Given the description of an element on the screen output the (x, y) to click on. 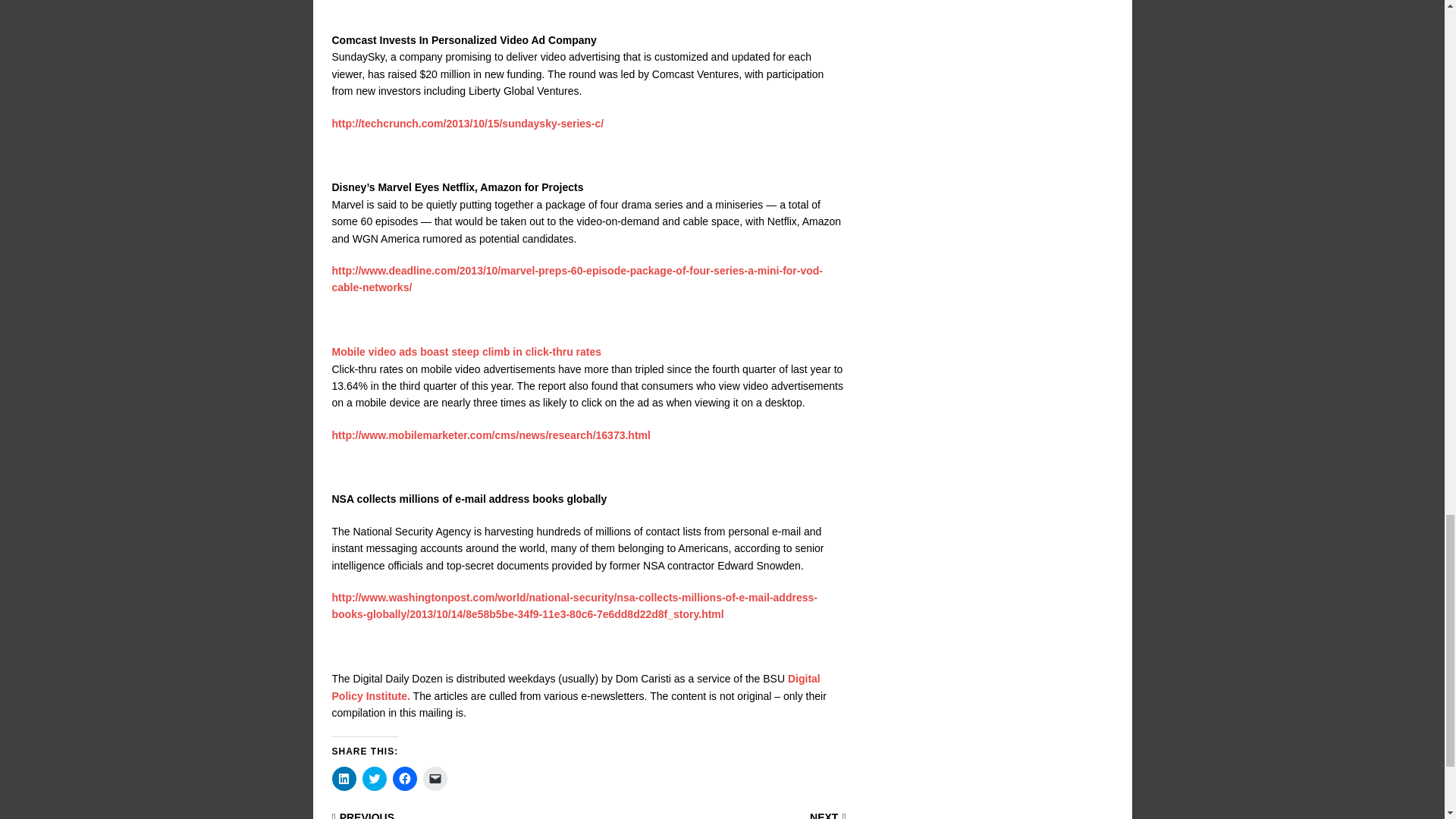
Click to email a link to a friend (434, 778)
Click to share on LinkedIn (343, 778)
Click to share on Twitter (374, 778)
Click to share on Facebook (404, 778)
